Given the description of an element on the screen output the (x, y) to click on. 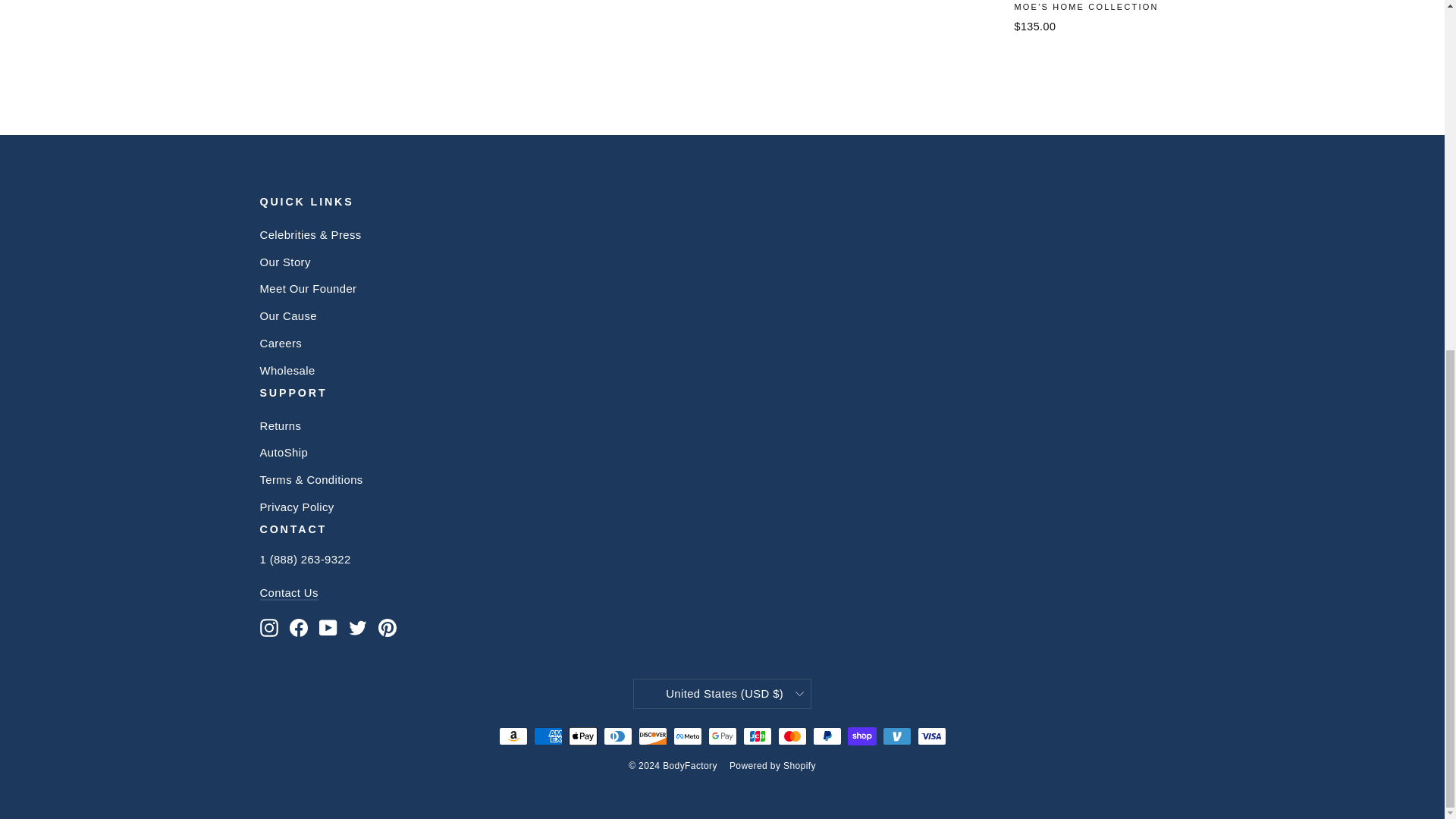
JCB (756, 736)
Contact Us (288, 593)
Mastercard (791, 736)
BodyFactory on Instagram (268, 628)
BodyFactory on Facebook (298, 628)
Google Pay (721, 736)
Discover (652, 736)
Meta Pay (686, 736)
Apple Pay (582, 736)
BodyFactory on Pinterest (386, 628)
BodyFactory on YouTube (327, 628)
American Express (548, 736)
Amazon (513, 736)
Diners Club (617, 736)
BodyFactory on Twitter (357, 628)
